Given the description of an element on the screen output the (x, y) to click on. 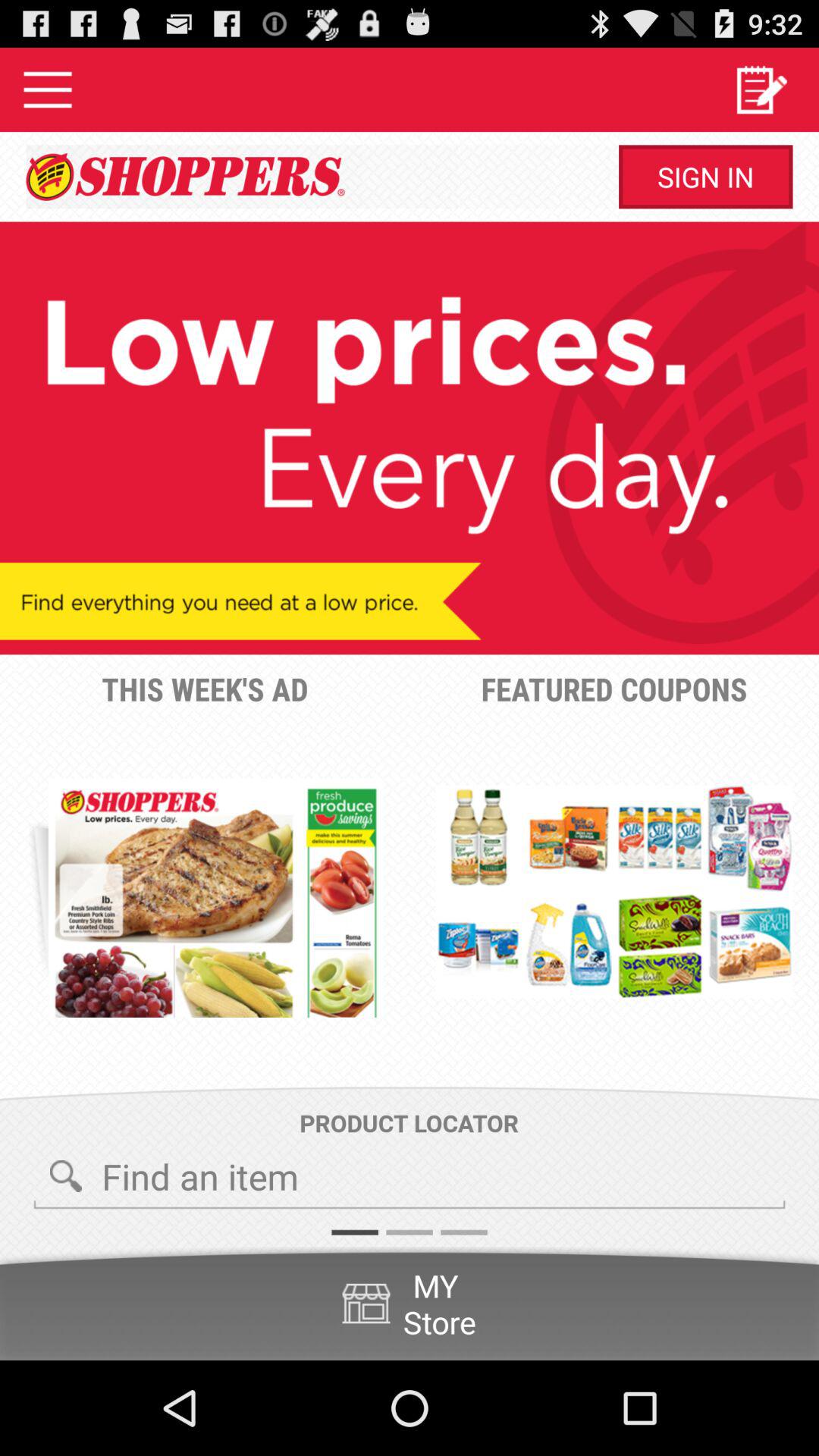
turn on icon above sign in button (760, 89)
